Given the description of an element on the screen output the (x, y) to click on. 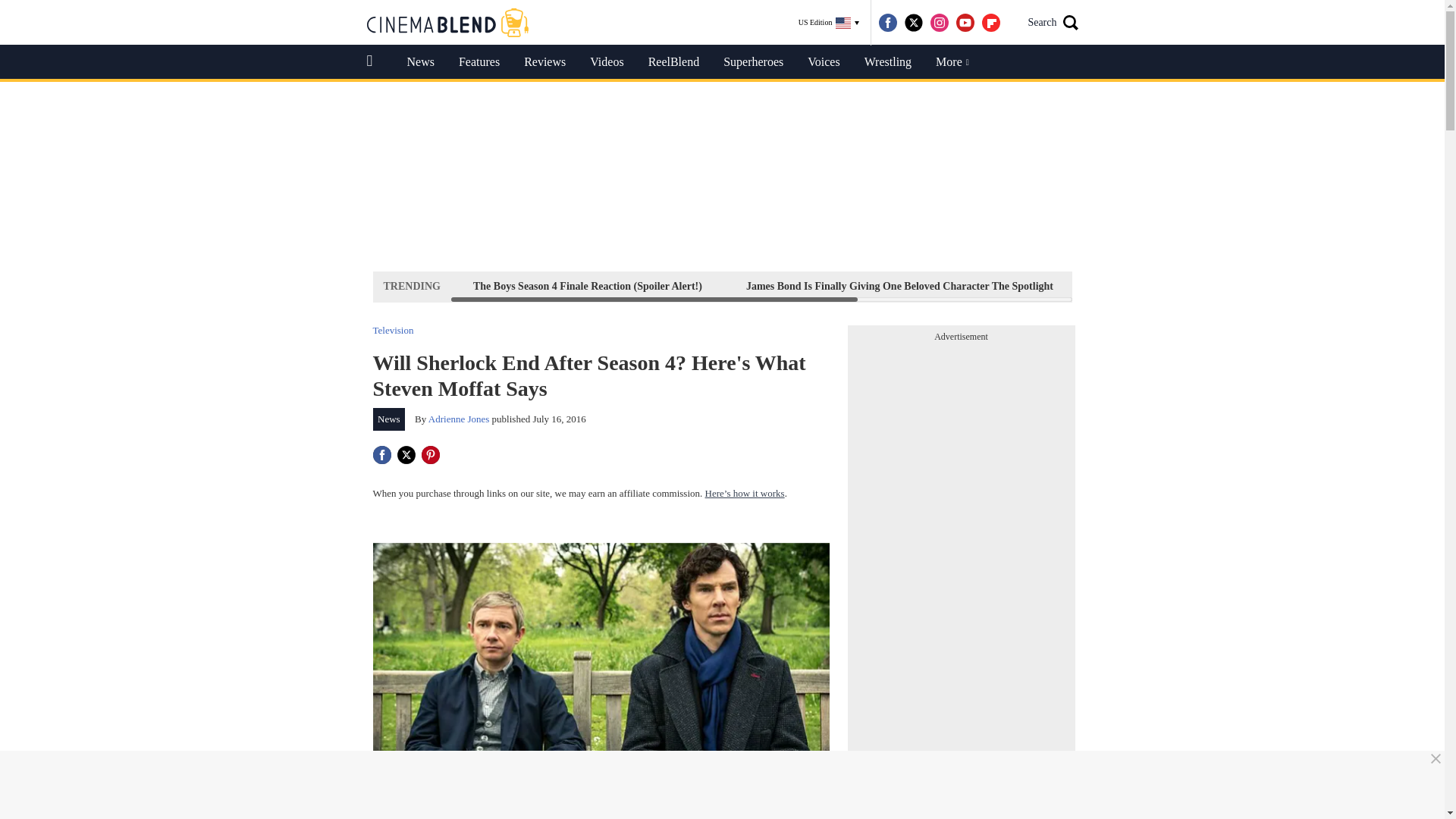
100 Best Sitcoms Of All Time (1312, 286)
Television (392, 329)
Videos (606, 61)
Features (479, 61)
2024 Upcoming Movies (1150, 286)
News (389, 418)
ReelBlend (673, 61)
Voices (822, 61)
Superheroes (752, 61)
Reviews (545, 61)
US Edition (828, 22)
